Given the description of an element on the screen output the (x, y) to click on. 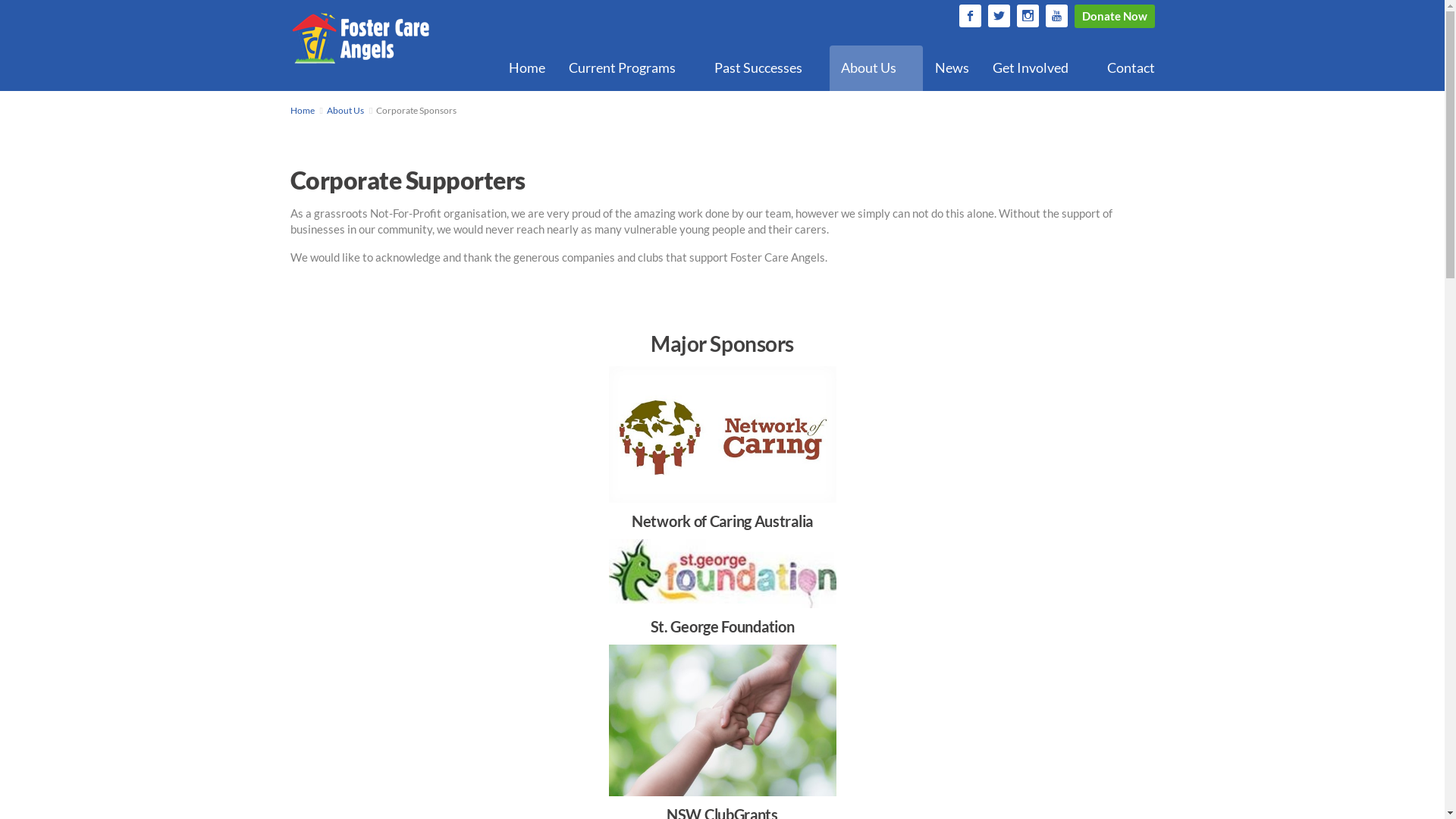
About Us Element type: text (875, 68)
News Element type: text (951, 68)
Current Programs Element type: text (628, 68)
Home Element type: text (526, 68)
Donate Now Element type: text (1113, 15)
About Us Element type: text (345, 110)
Home Element type: text (301, 110)
Link will open in a new window/tab Element type: hover (1024, 10)
Past Successes Element type: text (765, 68)
Link will open in a new window/tab Element type: hover (966, 10)
Network of Caring Australia Element type: text (722, 478)
St. George Foundation Element type: text (722, 600)
Link will open in a new window/tab Element type: hover (1053, 10)
Get Involved Element type: text (1038, 68)
Link will open in a new window/tab Element type: hover (995, 10)
Contact Element type: text (1130, 68)
